Given the description of an element on the screen output the (x, y) to click on. 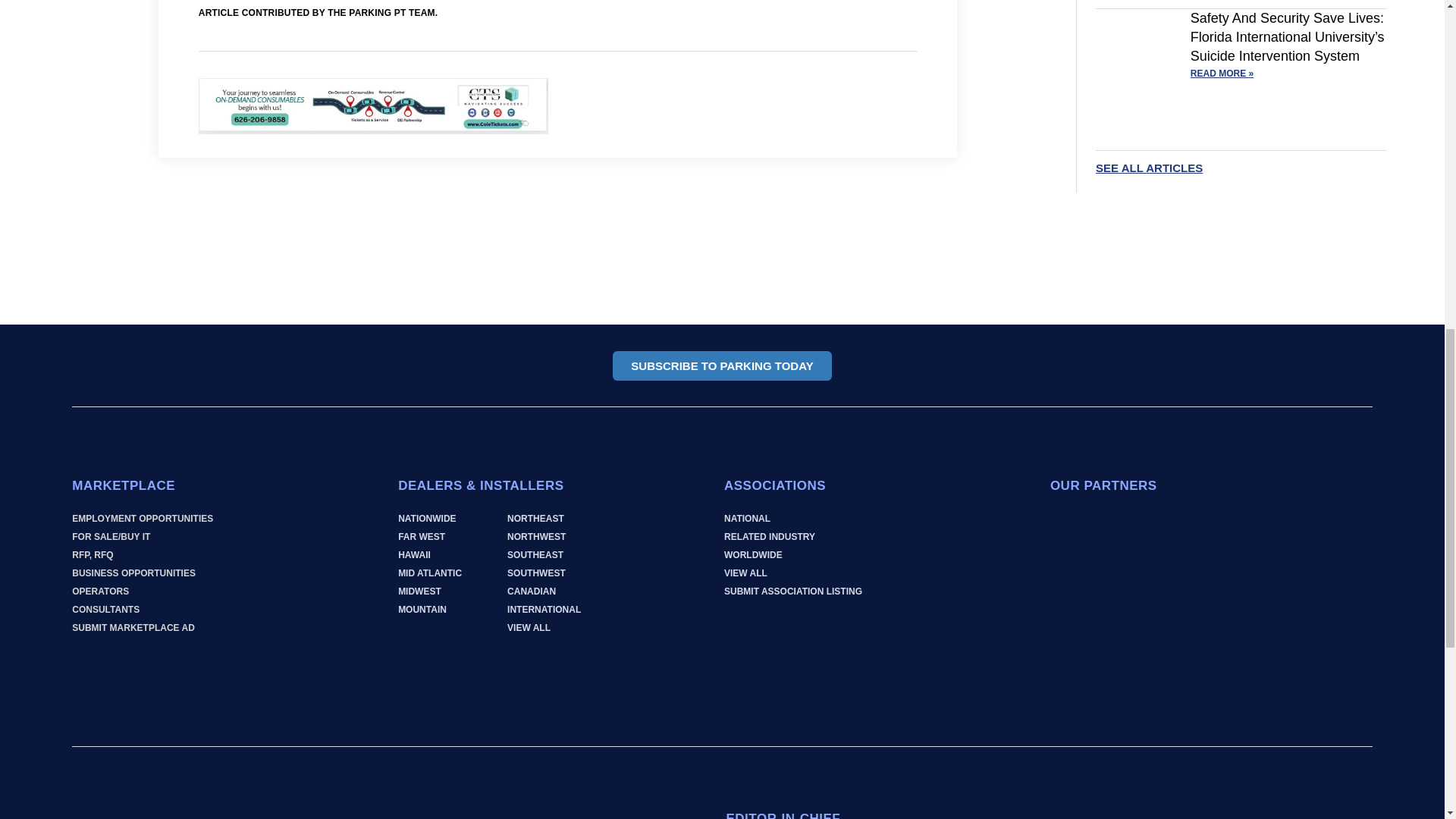
SEE ALL ARTICLES (1149, 167)
